Given the description of an element on the screen output the (x, y) to click on. 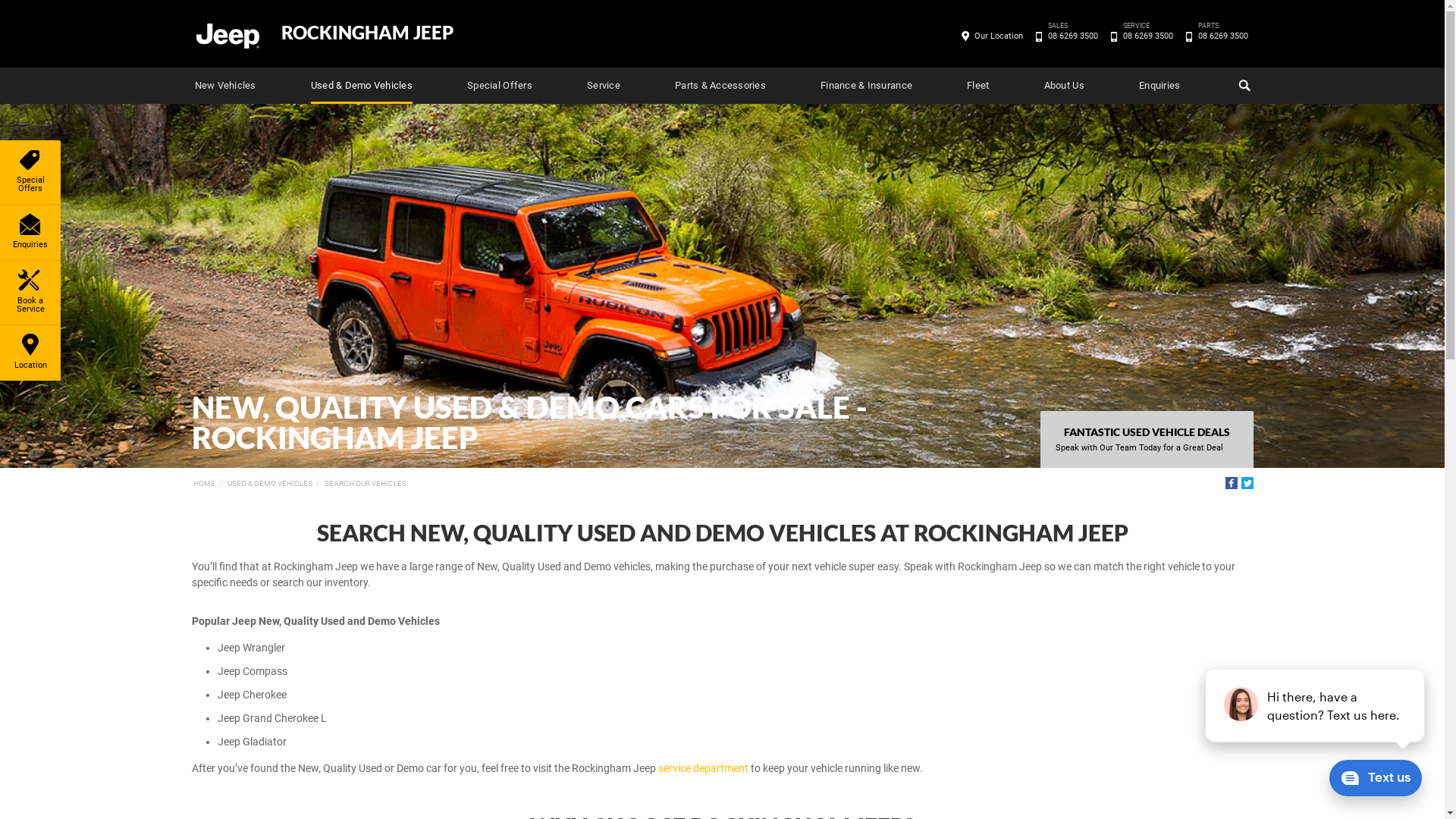
Used & Demo Vehicles Element type: text (361, 85)
Parts & Accessories Element type: text (719, 85)
Finance & Insurance Element type: text (866, 85)
Special Offers Element type: text (30, 171)
ROCKINGHAM JEEP Element type: text (366, 32)
Search Element type: text (1241, 85)
SERVICE
08 6269 3500 Element type: text (1147, 35)
Our Location Element type: text (998, 35)
SEARCH OUR VEHICLES Element type: text (365, 483)
USED & DEMO VEHICLES Element type: text (269, 483)
PARTS
08 6269 3500 Element type: text (1222, 35)
Enquiries Element type: text (30, 232)
service department Element type: text (703, 768)
SALES
08 6269 3500 Element type: text (1071, 35)
Twitter Element type: hover (1246, 482)
New Vehicles Element type: text (224, 85)
Fleet Element type: text (977, 85)
About Us Element type: text (1064, 85)
Facebook Element type: hover (1231, 482)
Book a Service Element type: text (30, 292)
Rockingham Jeep Element type: hover (226, 34)
Enquiries Element type: text (1159, 85)
Location Element type: text (30, 352)
Special Offers Element type: text (499, 85)
podium webchat widget prompt Element type: hover (1315, 705)
Service Element type: text (603, 85)
HOME Element type: text (203, 483)
